Given the description of an element on the screen output the (x, y) to click on. 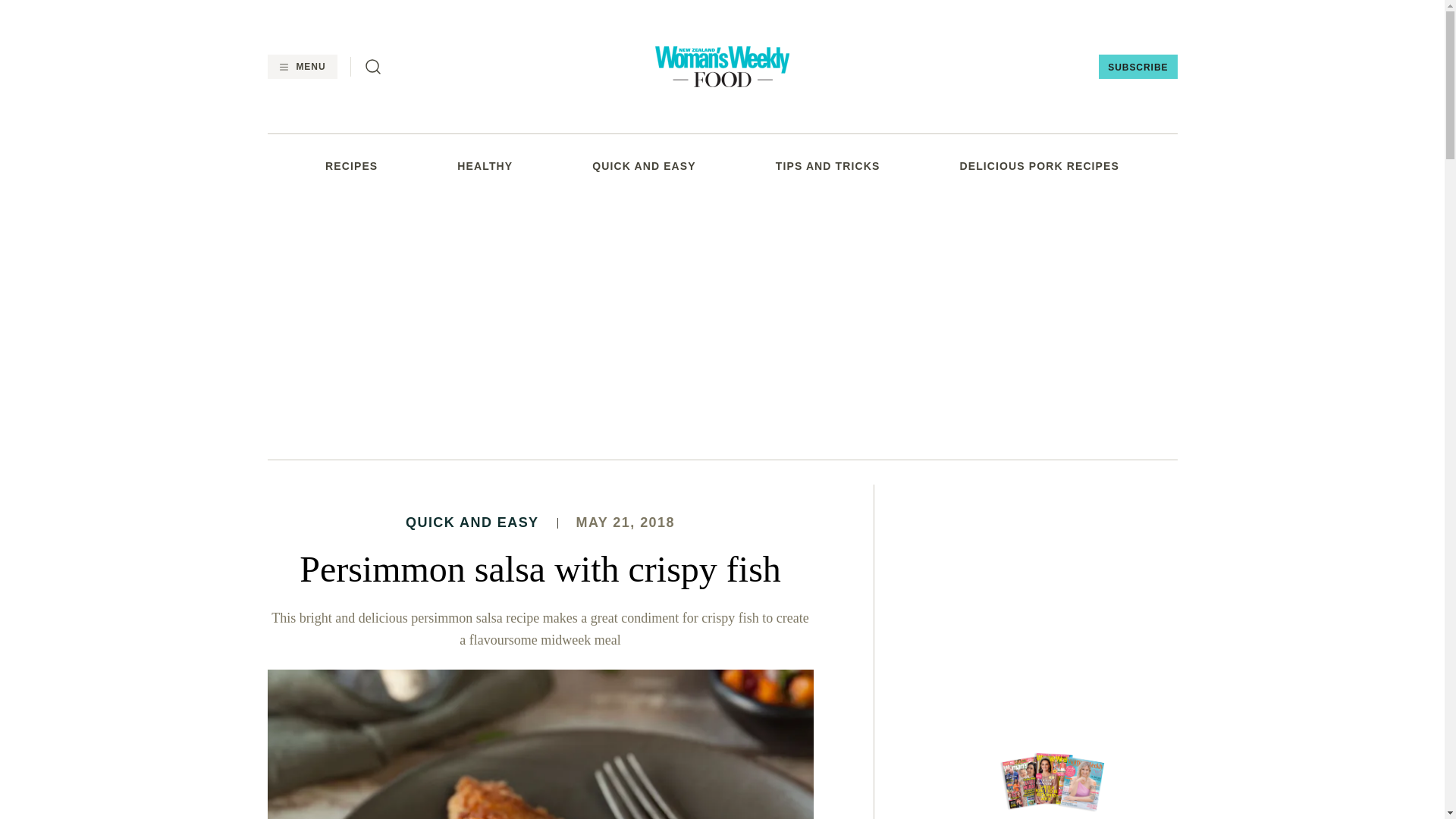
SUBSCRIBE (1137, 66)
TIPS AND TRICKS (828, 165)
MENU (301, 66)
QUICK AND EASY (643, 165)
DELICIOUS PORK RECIPES (1039, 165)
RECIPES (350, 165)
HEALTHY (484, 165)
